Given the description of an element on the screen output the (x, y) to click on. 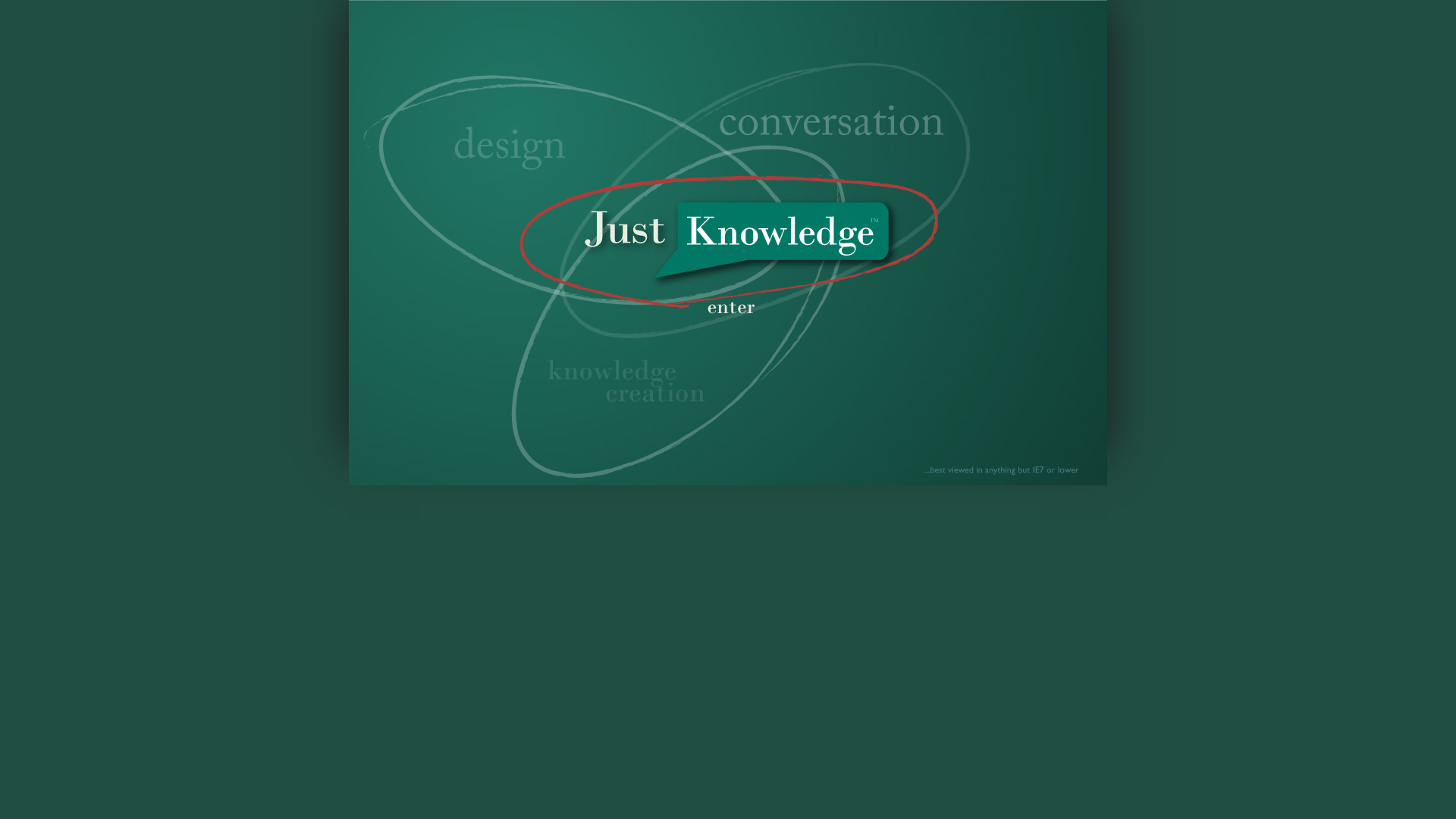
Enter Site Element type: hover (727, 242)
